Given the description of an element on the screen output the (x, y) to click on. 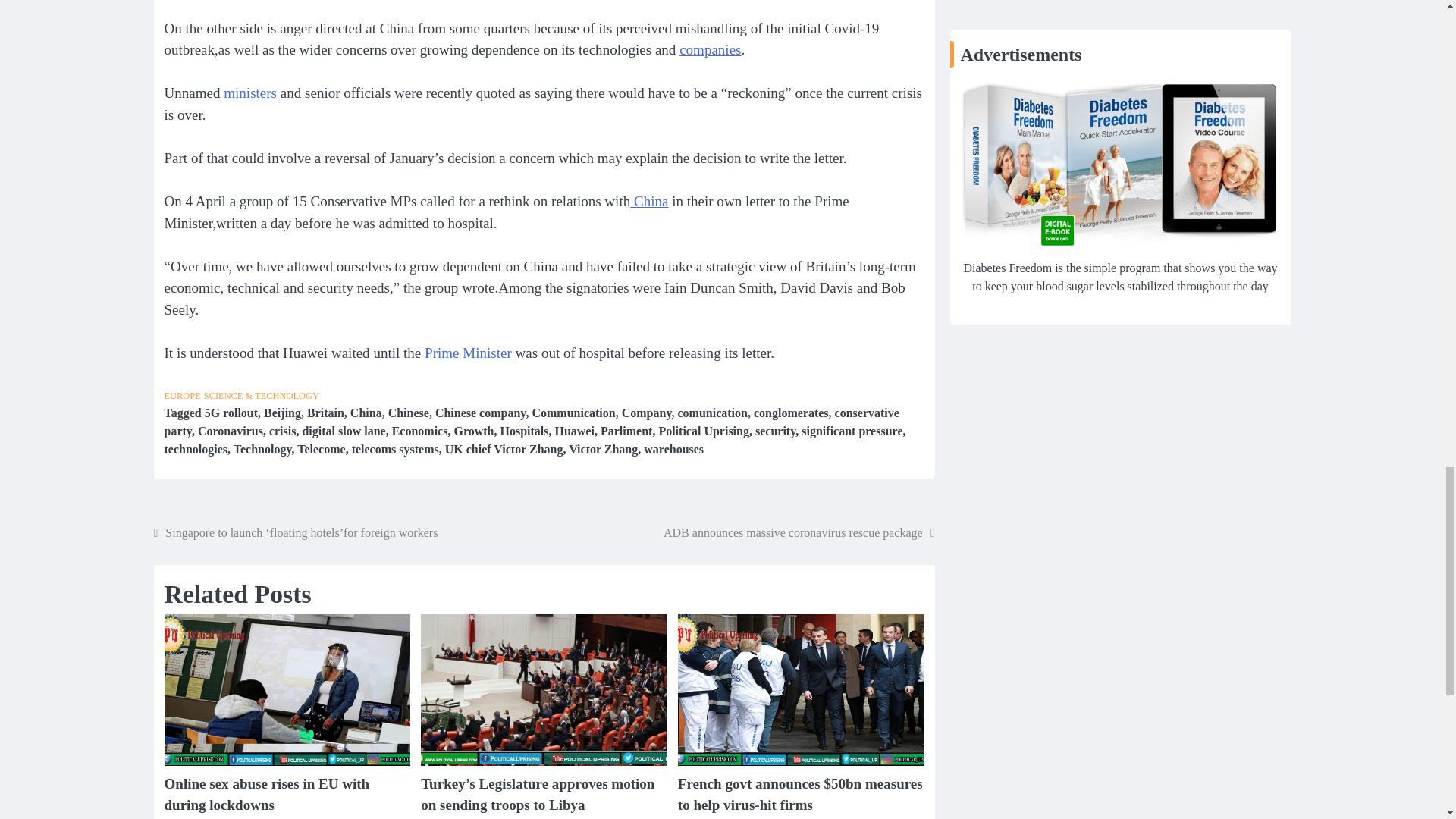
Company (646, 412)
Chinese (408, 412)
Chinese company (480, 412)
Prime Minister (468, 352)
conglomerates (791, 412)
comunication (713, 412)
companies (710, 49)
ministers (250, 92)
Britain (325, 412)
EUROPE (181, 395)
5G rollout (231, 412)
China (649, 201)
Communication (572, 412)
Beijing (282, 412)
China (365, 412)
